Given the description of an element on the screen output the (x, y) to click on. 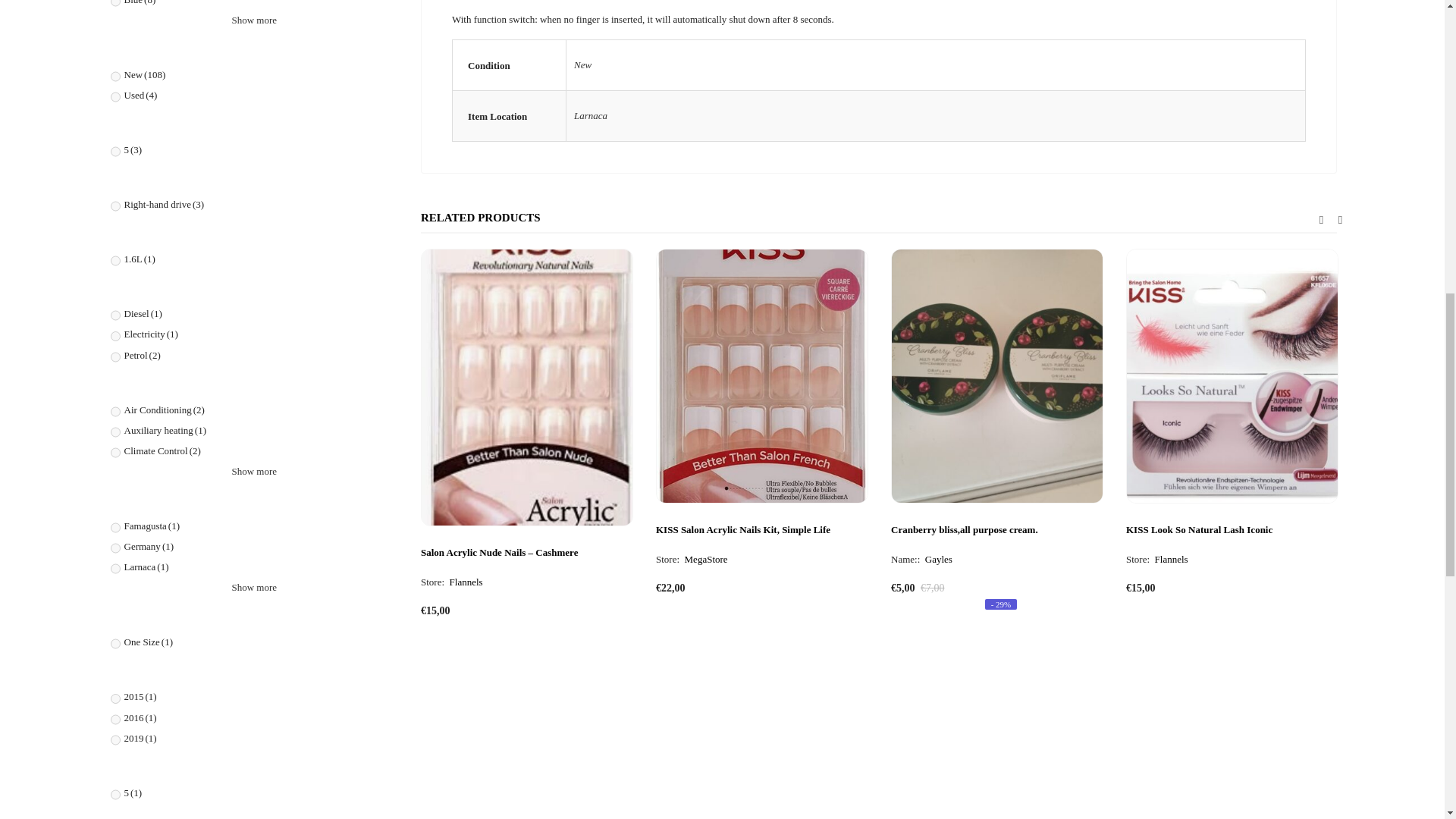
420 (115, 4)
